Given the description of an element on the screen output the (x, y) to click on. 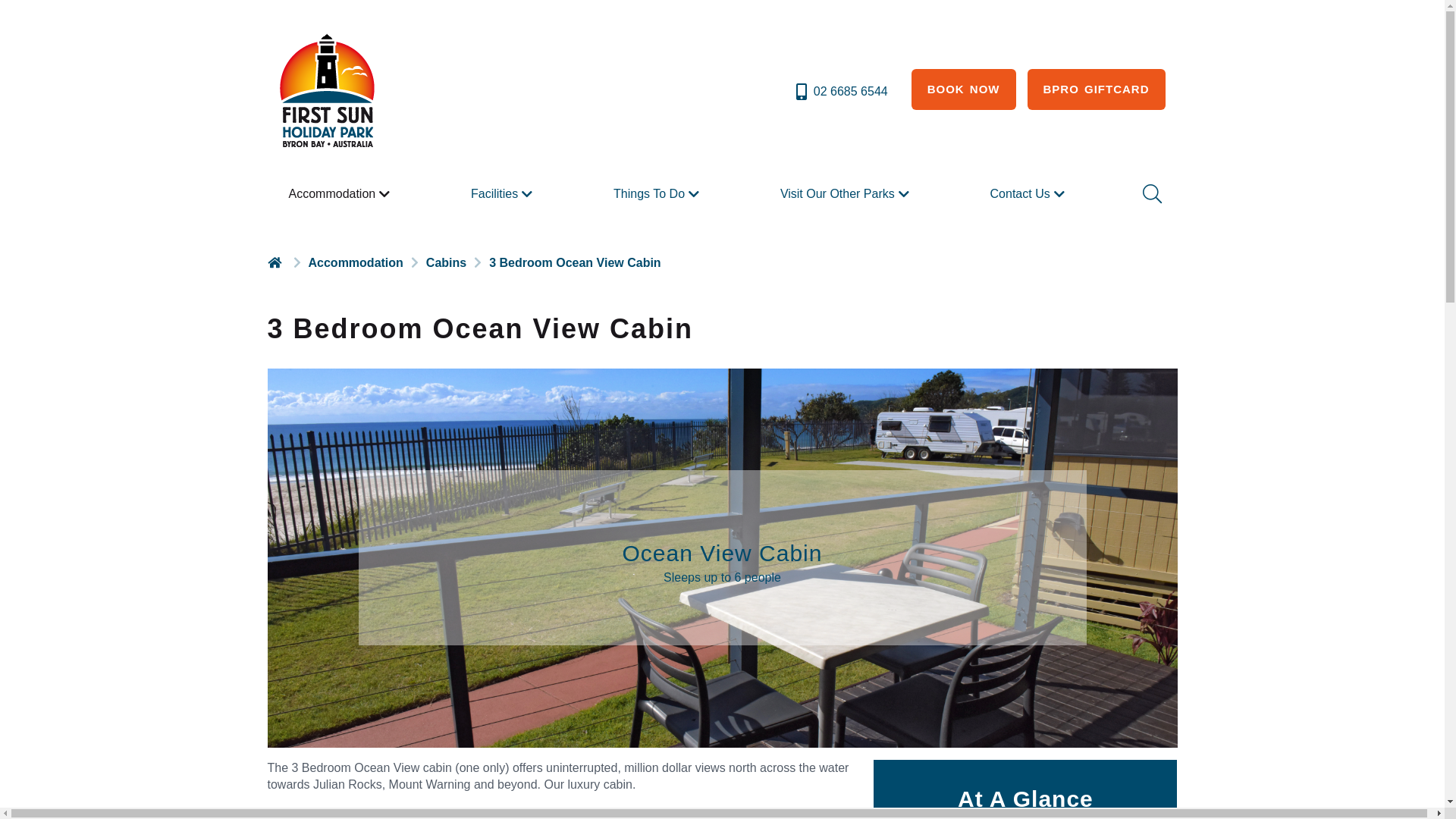
Cabins Element type: text (446, 262)
Contact Us Element type: text (1029, 193)
Things To Do Element type: text (658, 193)
  Element type: text (275, 262)
Facilities Element type: text (503, 193)
Visit Our Other Parks Element type: text (846, 193)
BOOK NOW Element type: text (963, 89)
BPRO GIFTCARD Element type: text (1095, 89)
Accommodation Element type: text (340, 193)
02 6685 6544 Element type: text (840, 91)
Search Element type: text (1150, 194)
